Given the description of an element on the screen output the (x, y) to click on. 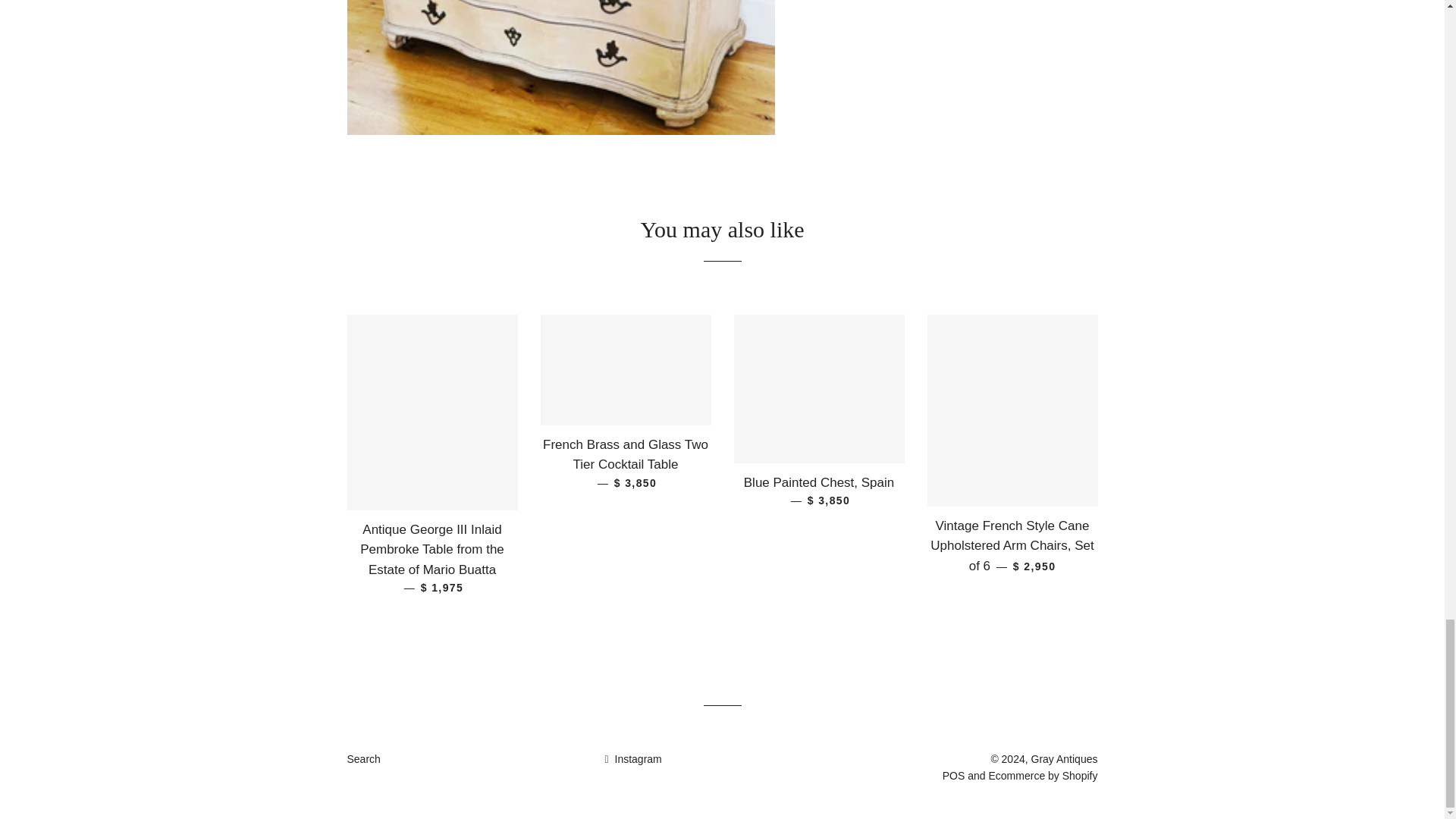
Instagram (632, 758)
Gray Antiques on Instagram (632, 758)
Search (363, 758)
